Given the description of an element on the screen output the (x, y) to click on. 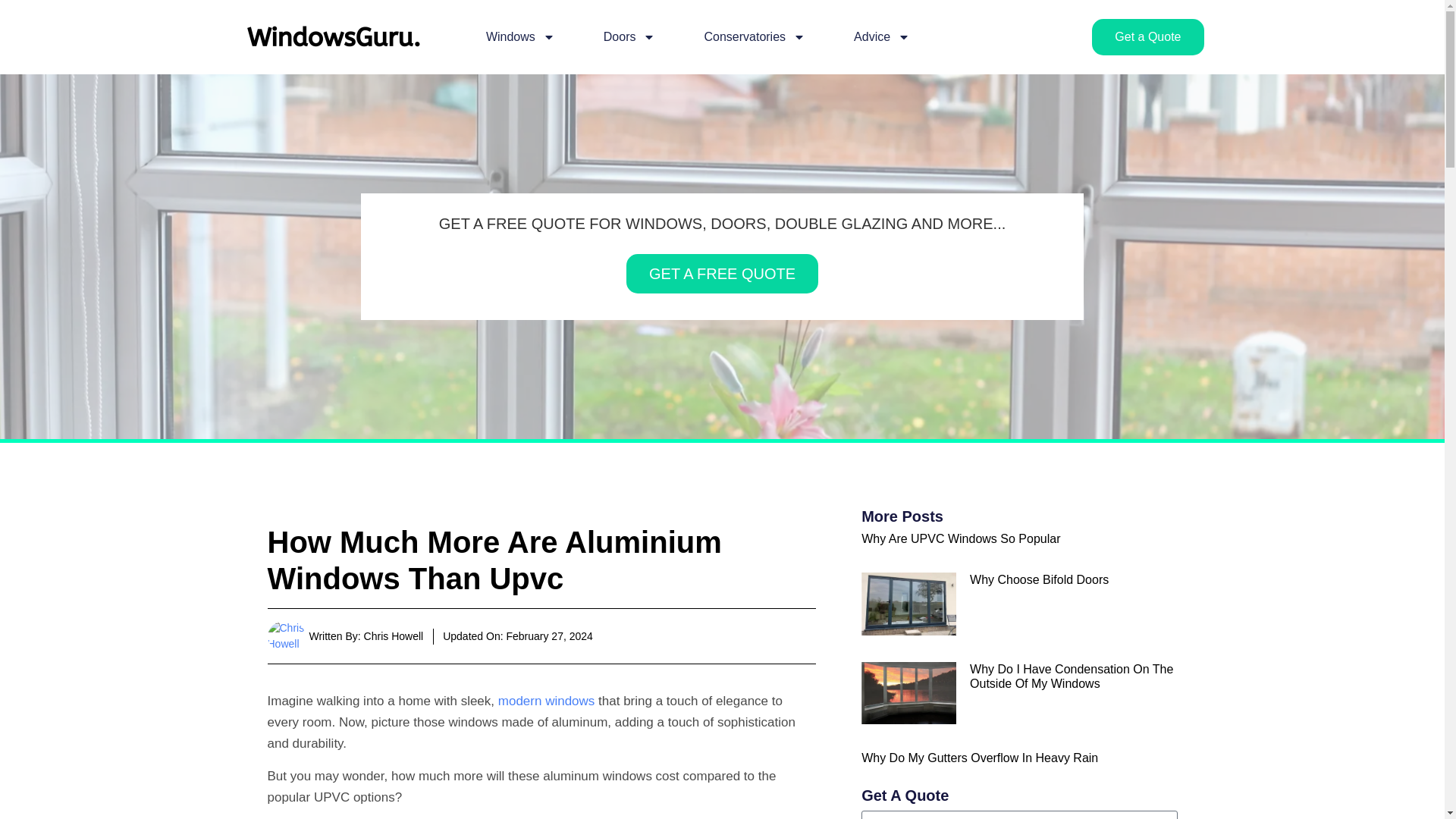
Doors (630, 36)
Windows (520, 36)
Advice (881, 36)
Conservatories (754, 36)
